Given the description of an element on the screen output the (x, y) to click on. 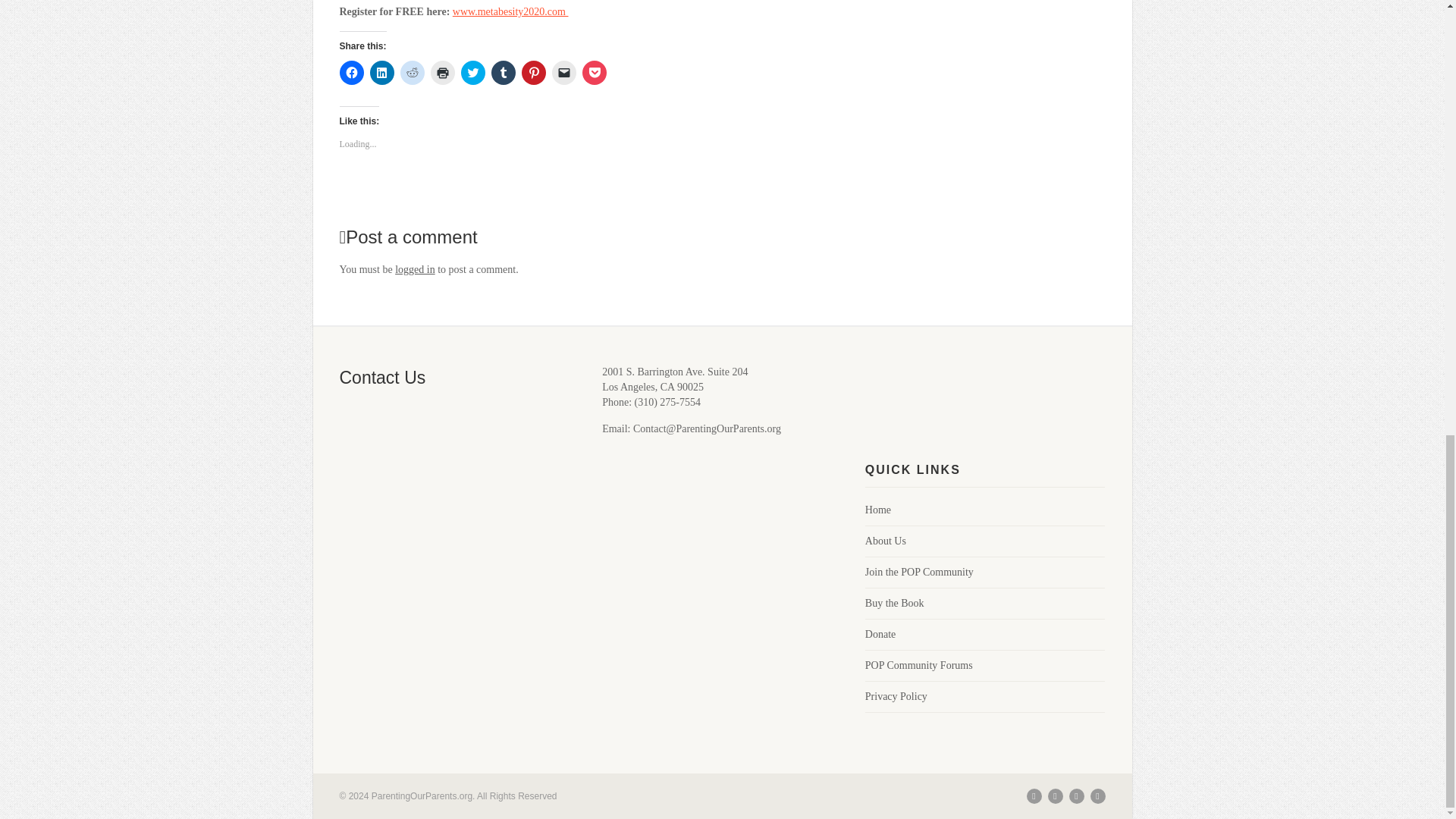
Click to share on Pinterest (533, 72)
Click to share on Reddit (412, 72)
Click to share on Pocket (594, 72)
Click to share on Facebook (351, 72)
Click to email a link to a friend (563, 72)
Click to print (442, 72)
Click to share on LinkedIn (381, 72)
Click to share on Tumblr (503, 72)
Click to share on Twitter (472, 72)
